Given the description of an element on the screen output the (x, y) to click on. 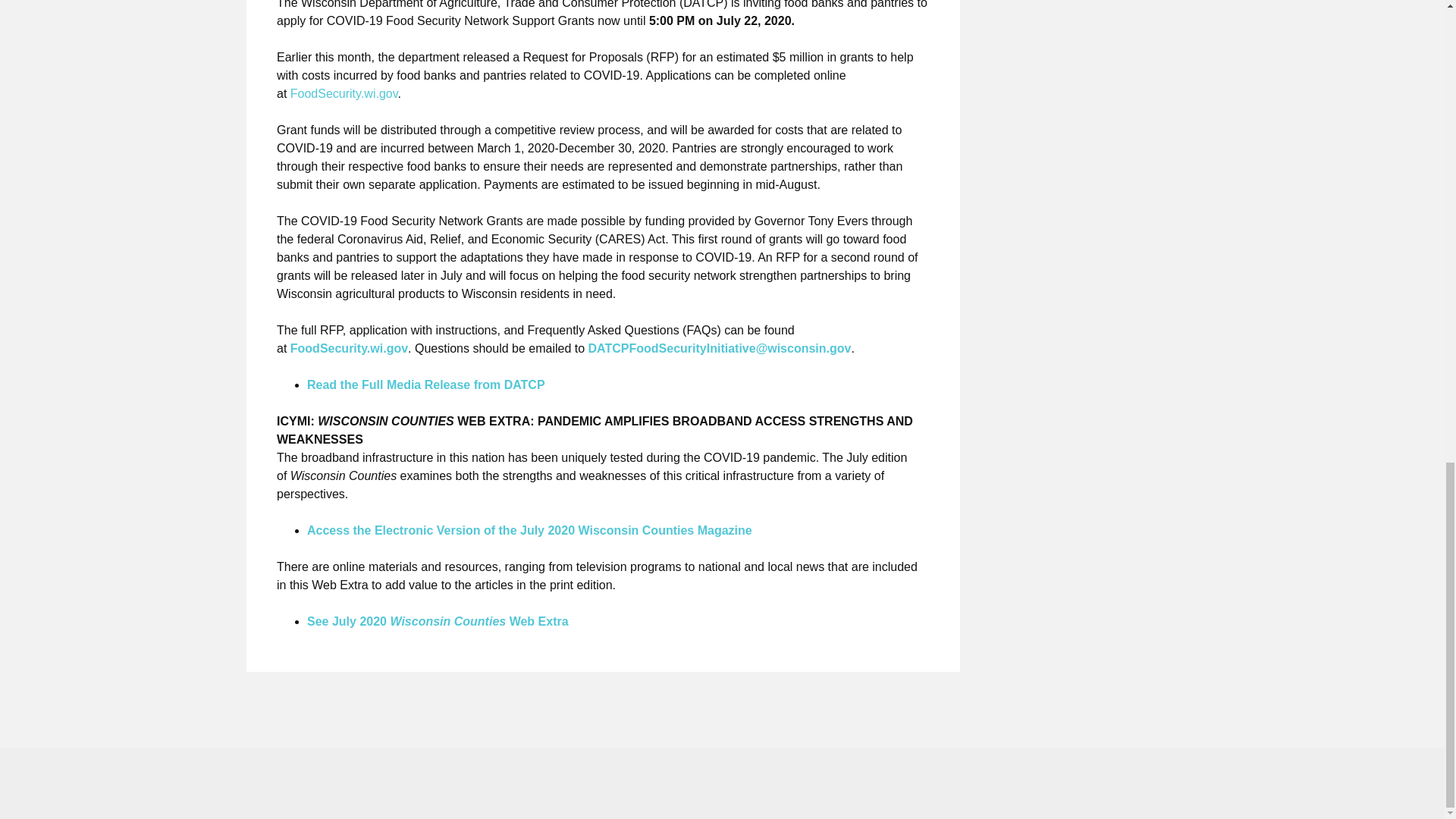
Read the Full Media Release from DATCP (425, 384)
See July 2020 Wisconsin Counties Web Extra (438, 621)
FoodSecurity.wi.gov (348, 348)
FoodSecurity.wi.gov (343, 92)
